Given the description of an element on the screen output the (x, y) to click on. 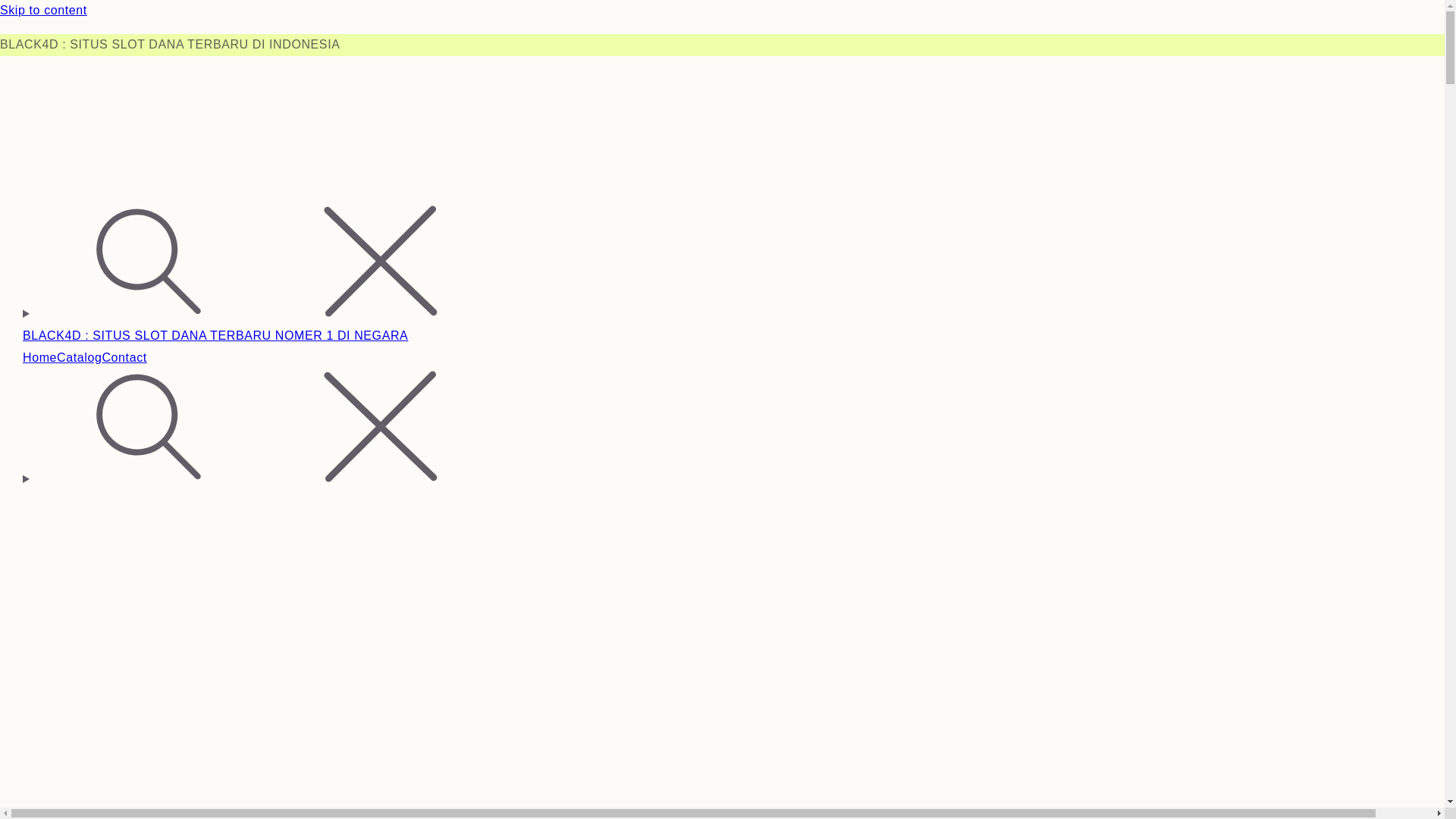
Home Element type: text (39, 358)
Contact Element type: text (123, 358)
Skip to content Element type: text (722, 10)
Catalog Element type: text (78, 358)
BLACK4D : SITUS SLOT DANA TERBARU NOMER 1 DI NEGARA Element type: text (214, 335)
